Given the description of an element on the screen output the (x, y) to click on. 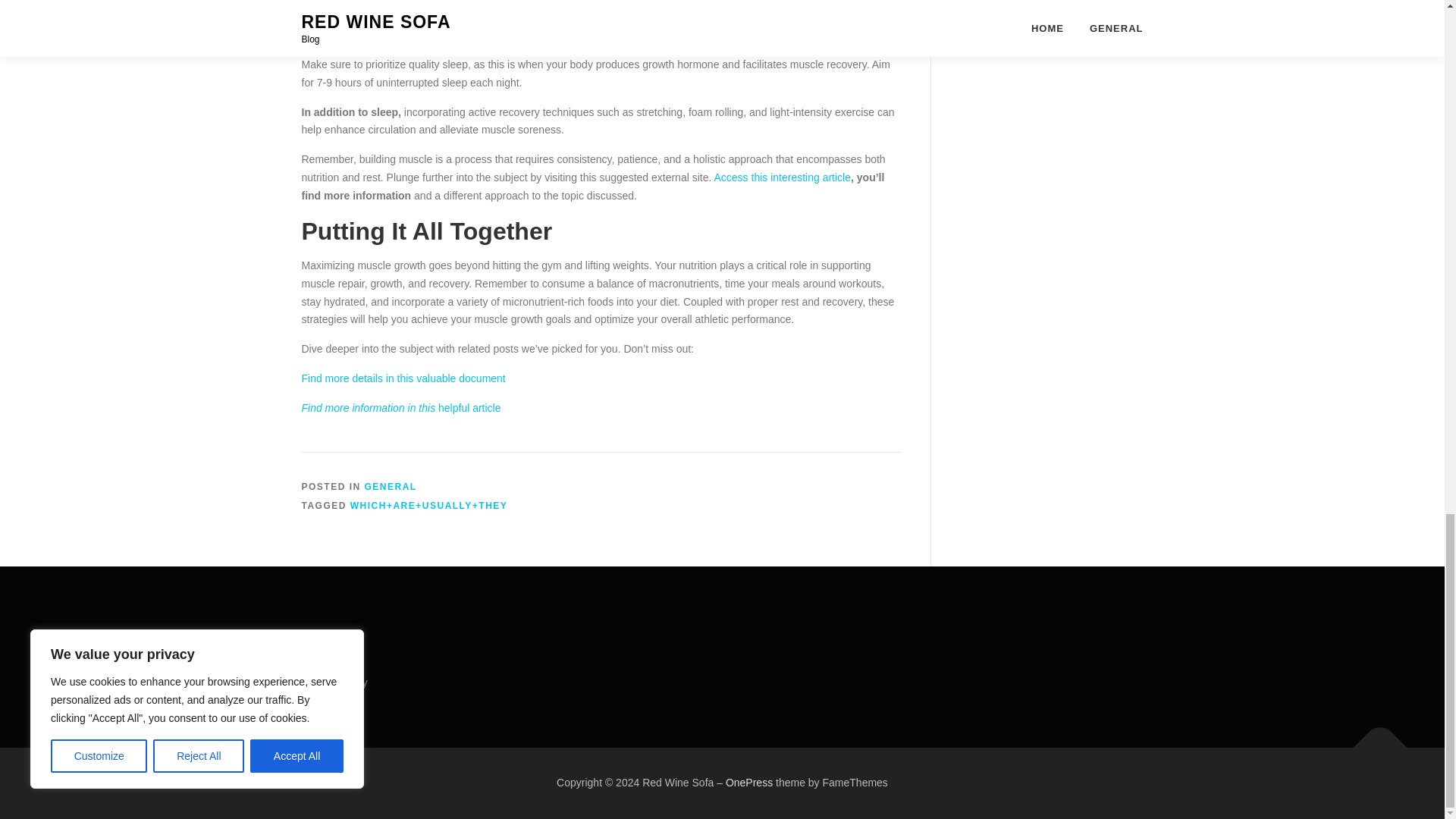
Find more details in this valuable document (403, 378)
Access this interesting article (781, 177)
Back To Top (1372, 739)
GENERAL (390, 486)
Find more information in this helpful article (400, 408)
